Given the description of an element on the screen output the (x, y) to click on. 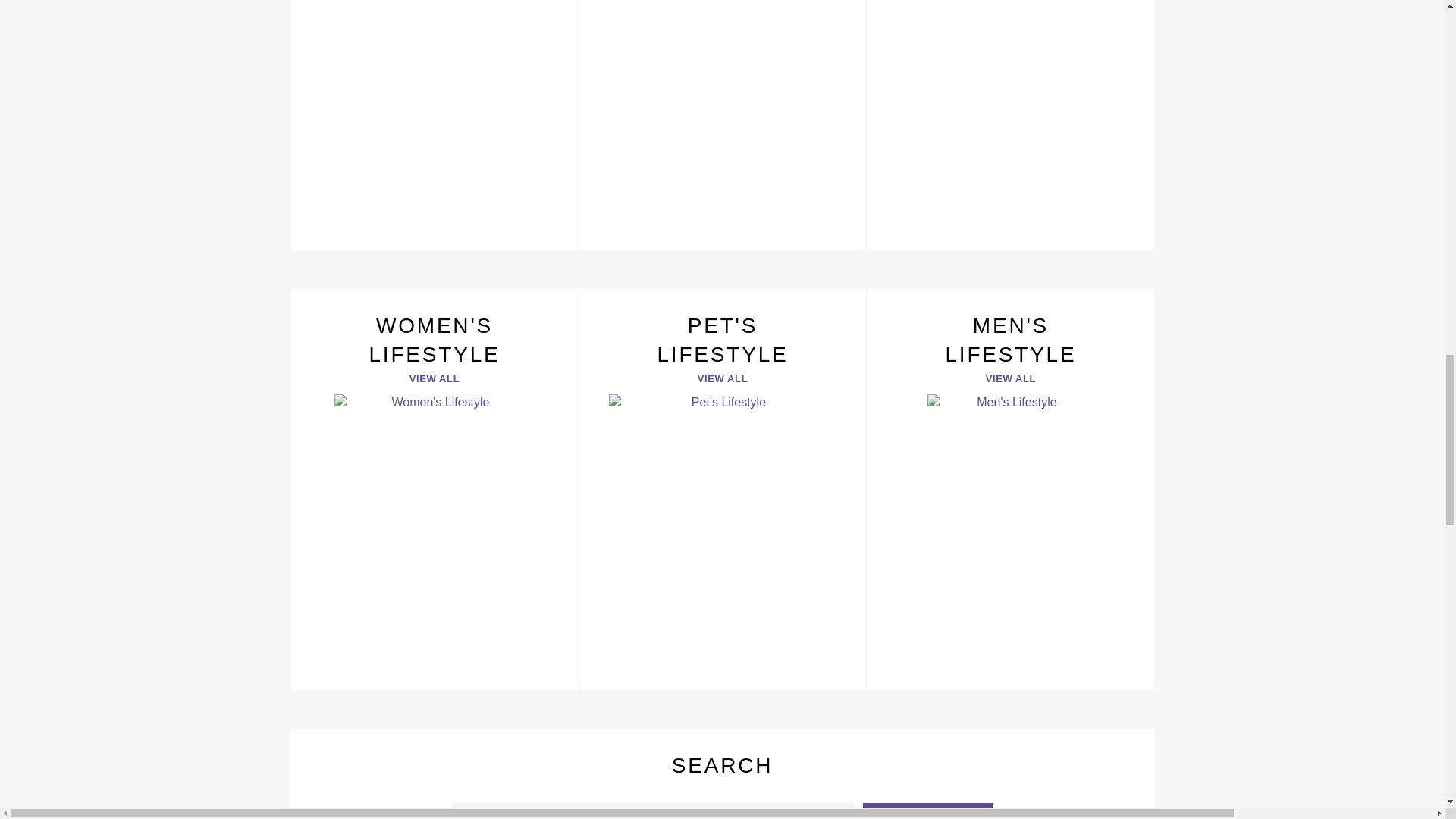
Browse our Camping collection (1010, 125)
Browse our Fishing collection (433, 125)
Browse our Ohiopyle Souvenirs collection (722, 125)
